Given the description of an element on the screen output the (x, y) to click on. 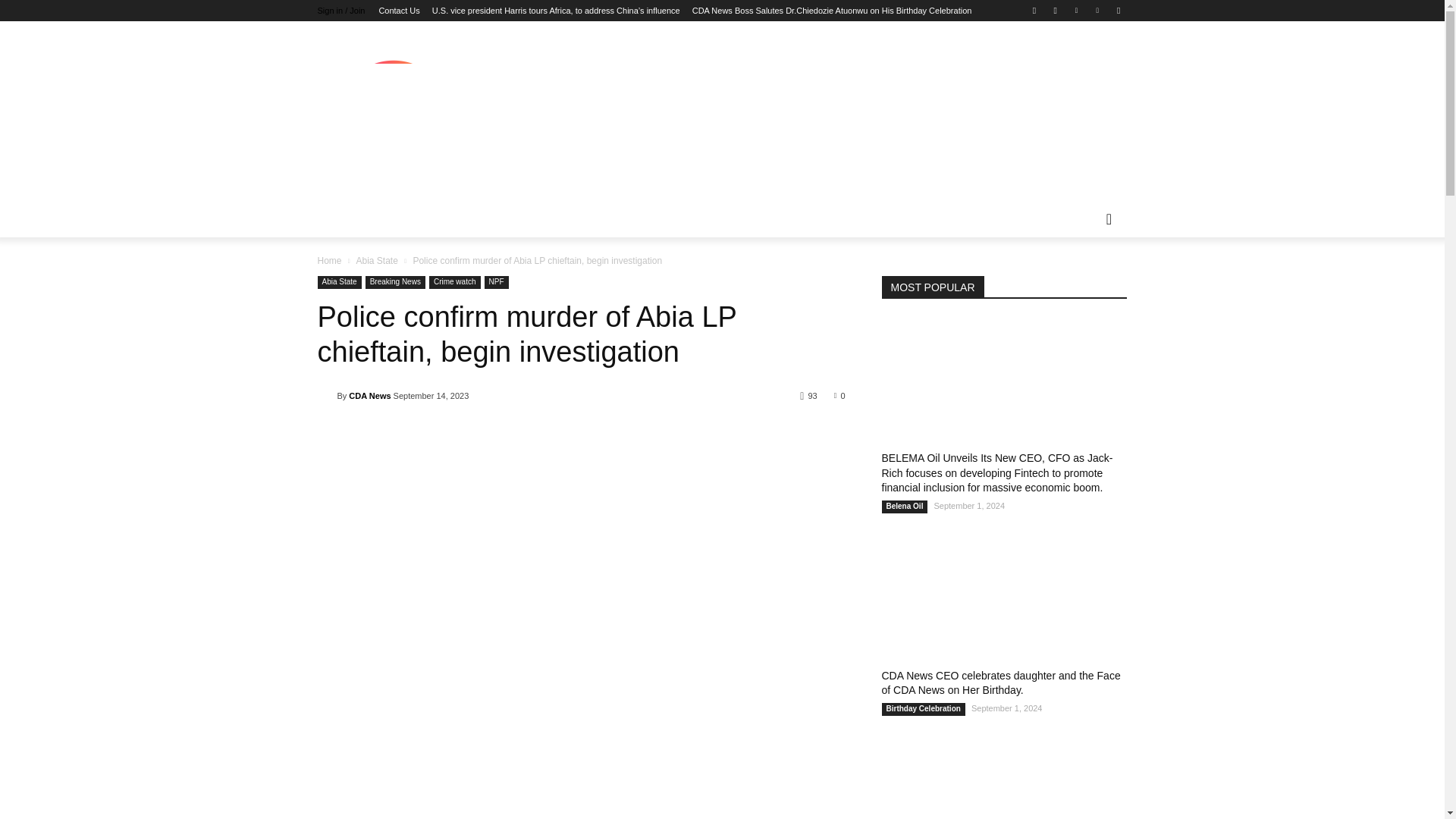
View all posts in Abia State (376, 260)
CDANEWS (392, 118)
Contact Us (398, 10)
